Given the description of an element on the screen output the (x, y) to click on. 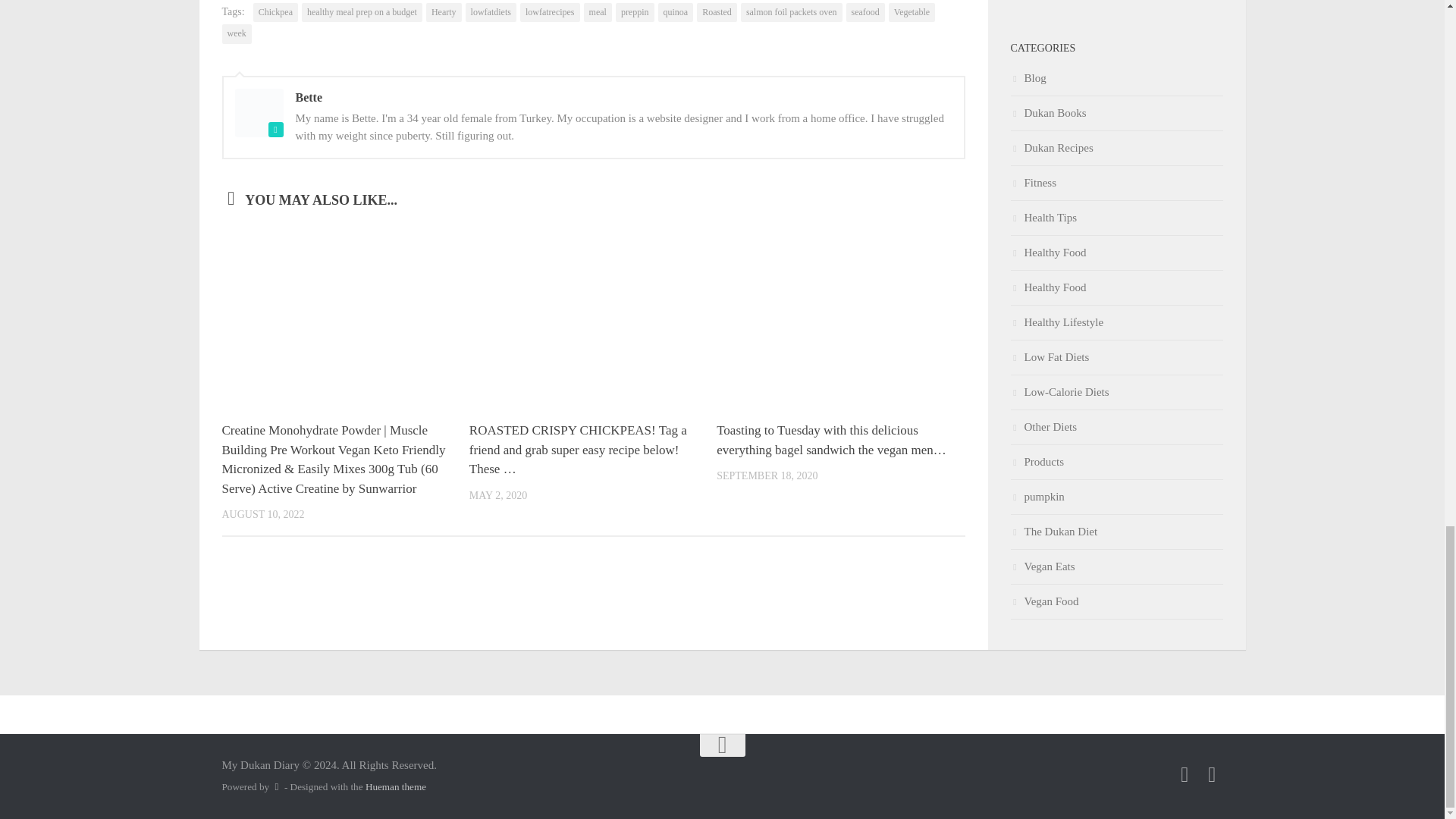
preppin (634, 12)
Roasted (716, 12)
meal (597, 12)
Vegetable (911, 12)
Hearty (443, 12)
quinoa (676, 12)
salmon foil packets oven (792, 12)
Chickpea (275, 12)
week (235, 34)
Powered by WordPress (275, 786)
